Given the description of an element on the screen output the (x, y) to click on. 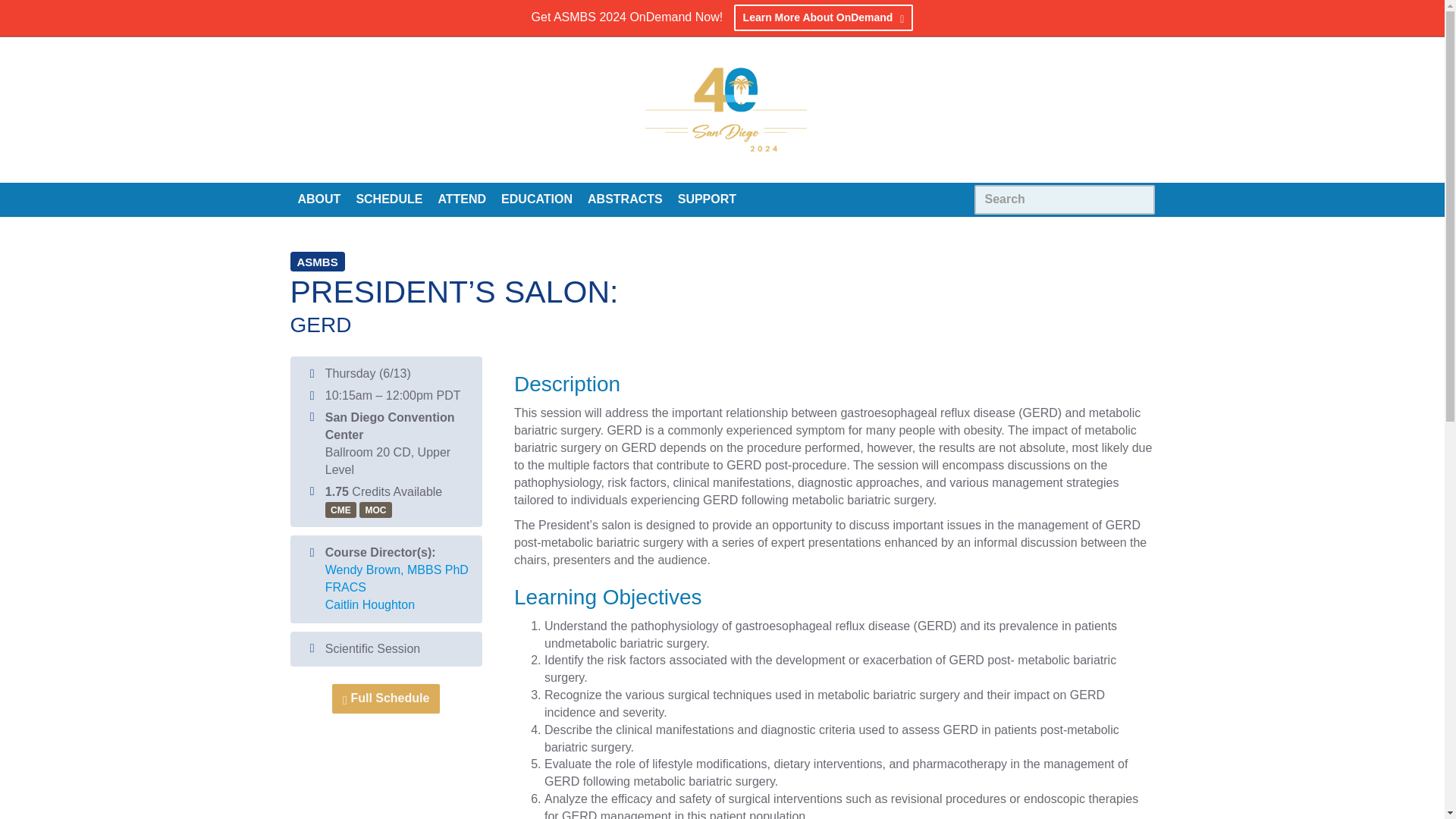
Caitlin Houghton (369, 604)
Wendy Brown, MBBS PhD FRACS (396, 578)
ABOUT (318, 198)
SUPPORT (706, 198)
EDUCATION (536, 198)
Full Schedule (385, 698)
ABSTRACTS (624, 198)
ATTEND (461, 198)
SCHEDULE (388, 198)
Learn More About OnDemand (823, 17)
